Given the description of an element on the screen output the (x, y) to click on. 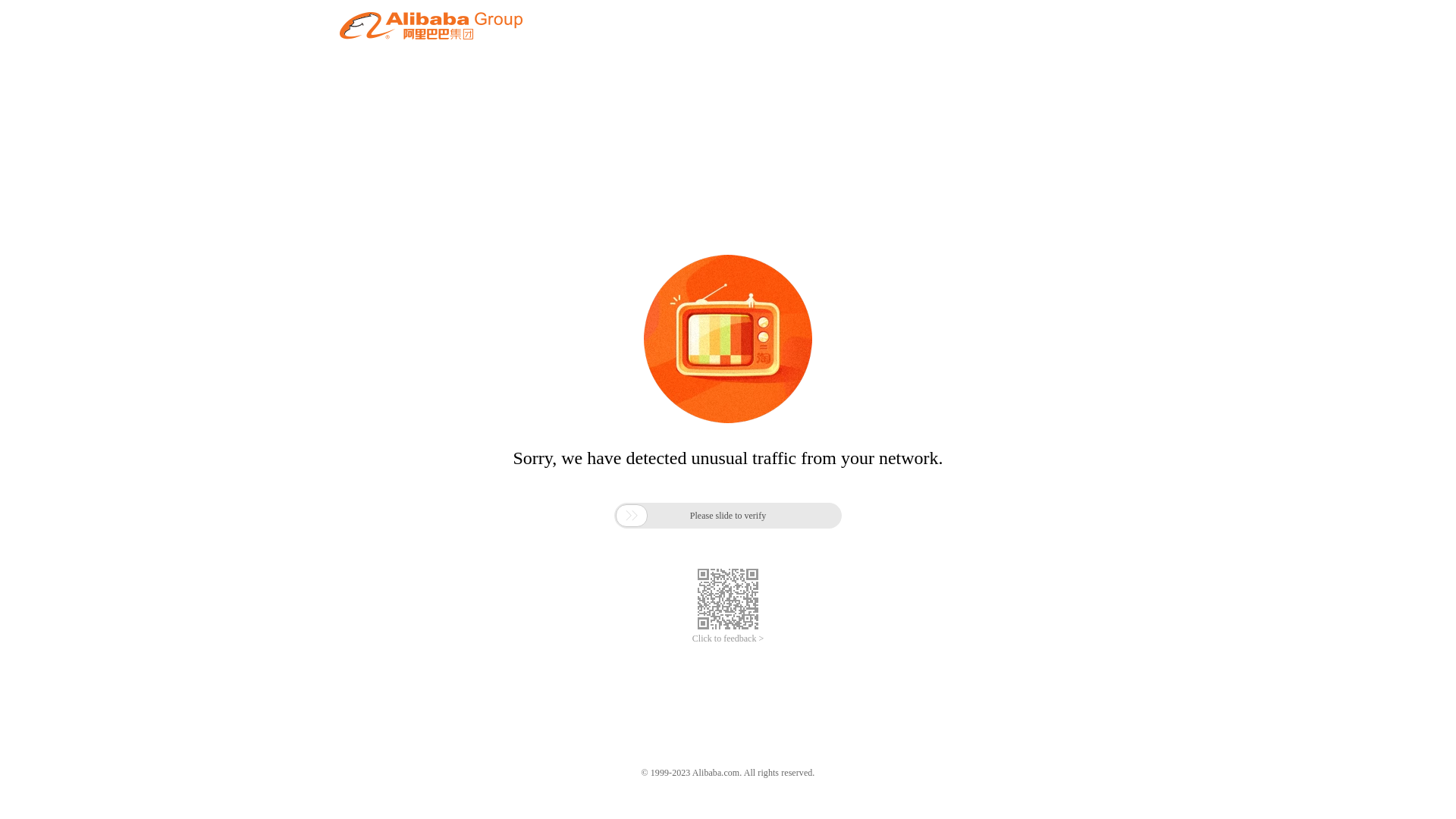
Click to feedback > Element type: text (727, 638)
